Given the description of an element on the screen output the (x, y) to click on. 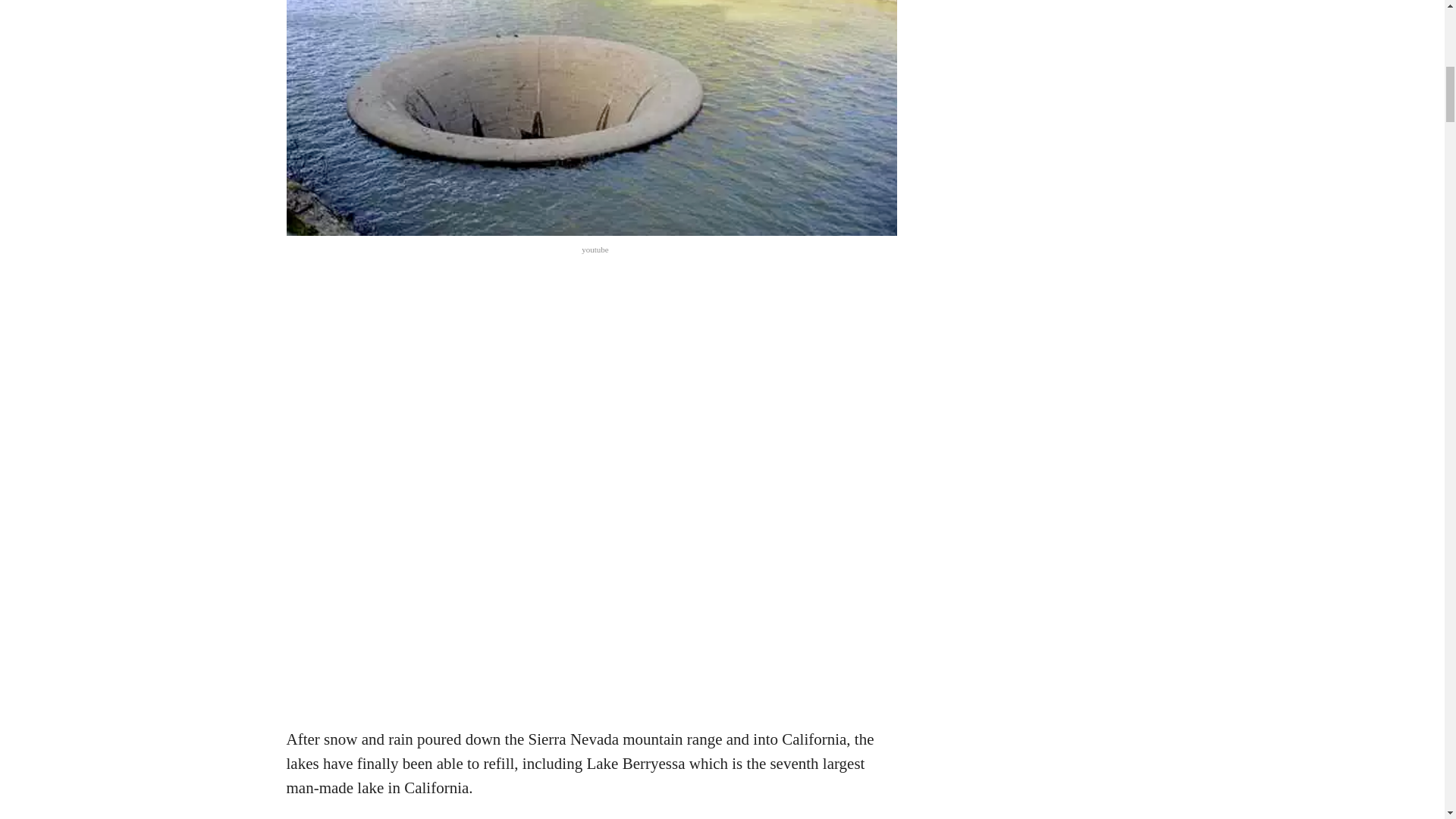
youtube (594, 248)
